Given the description of an element on the screen output the (x, y) to click on. 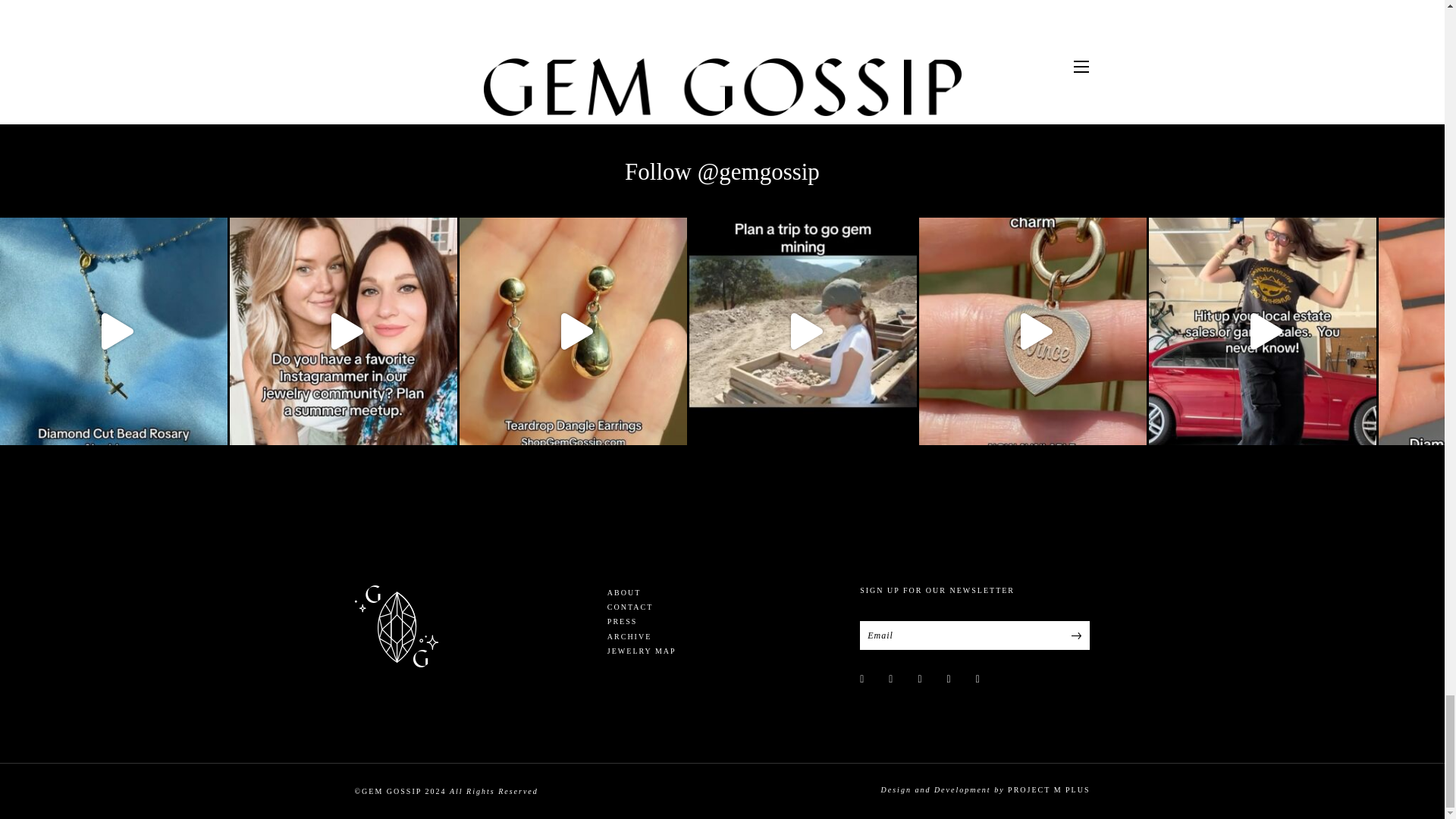
Submit (1075, 635)
